Given the description of an element on the screen output the (x, y) to click on. 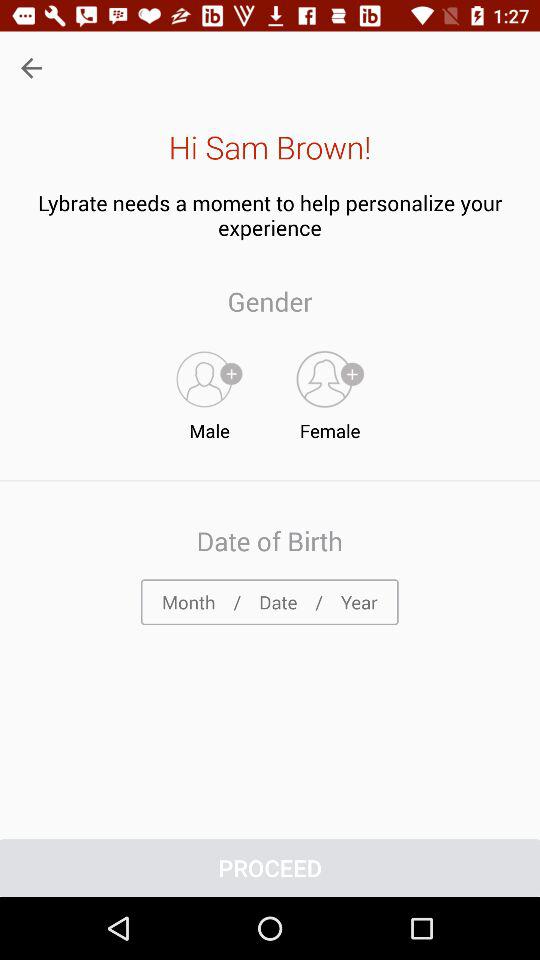
choose item above the proceed icon (269, 602)
